Given the description of an element on the screen output the (x, y) to click on. 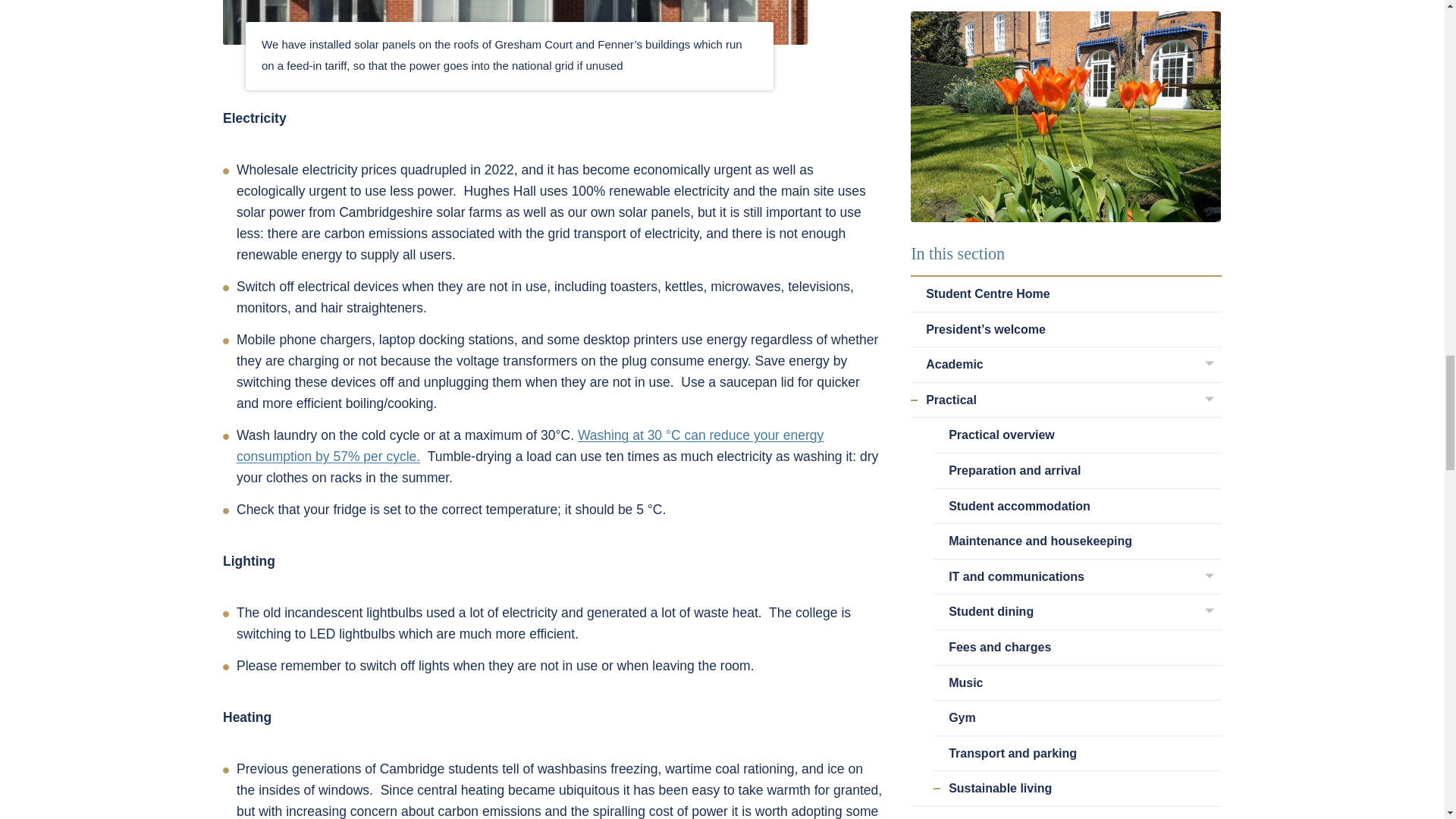
Solar panels - Hughes Hall (515, 22)
